Given the description of an element on the screen output the (x, y) to click on. 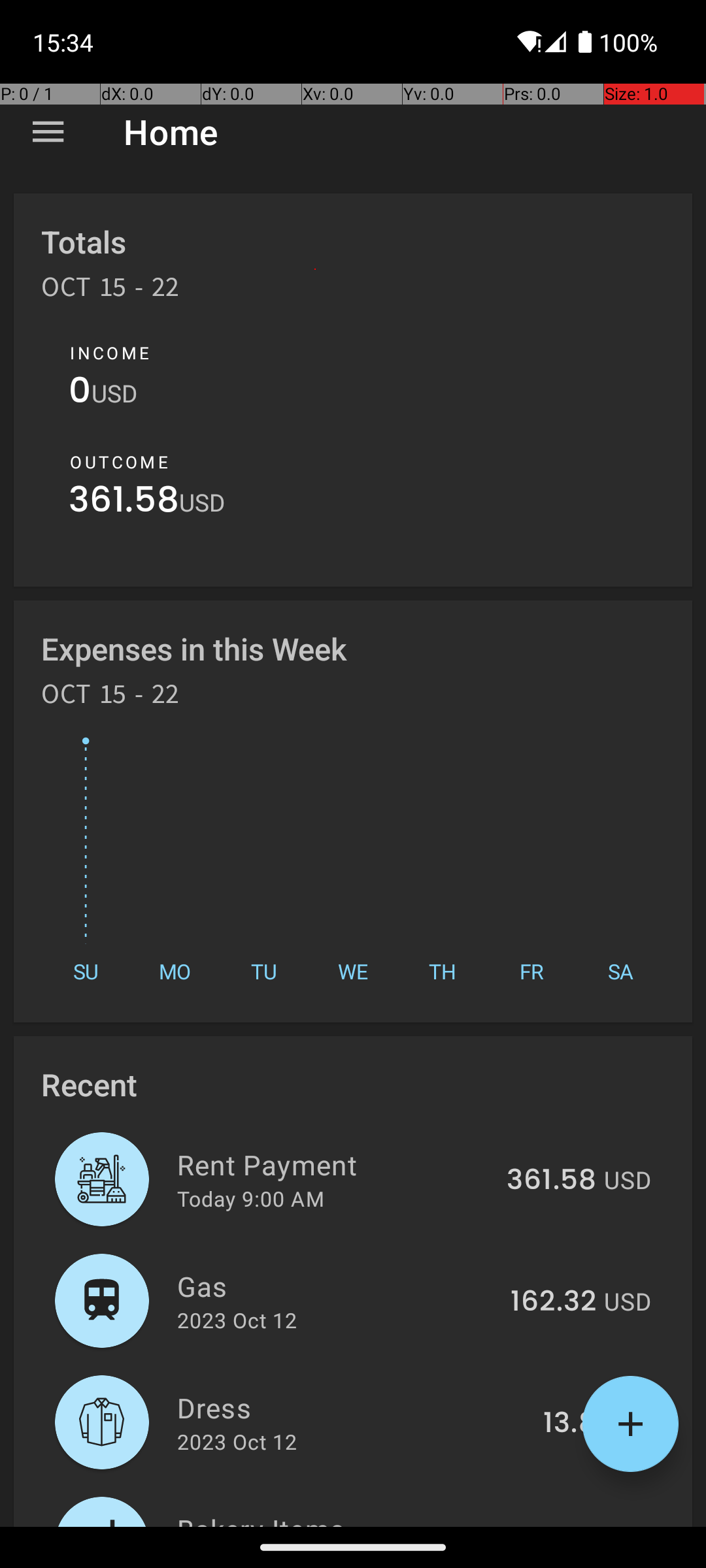
361.58 Element type: android.widget.TextView (123, 502)
Rent Payment Element type: android.widget.TextView (334, 1164)
Today 9:00 AM Element type: android.widget.TextView (250, 1198)
Gas Element type: android.widget.TextView (336, 1285)
162.32 Element type: android.widget.TextView (552, 1301)
Dress Element type: android.widget.TextView (352, 1407)
13.8 Element type: android.widget.TextView (569, 1423)
Bakery Items Element type: android.widget.TextView (330, 1518)
244.86 Element type: android.widget.TextView (547, 1524)
